Given the description of an element on the screen output the (x, y) to click on. 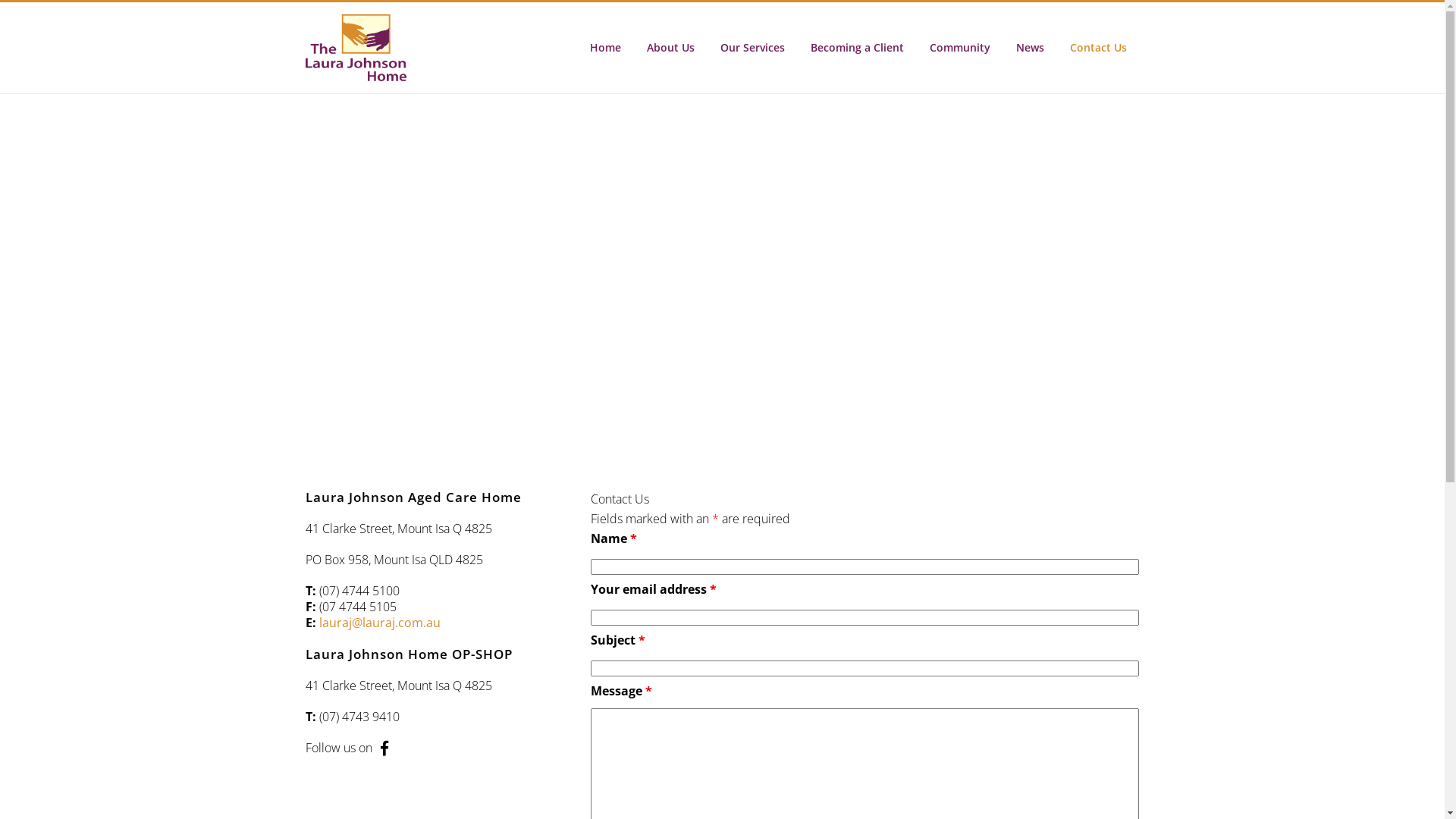
Staff Portal Element type: text (831, 596)
Becoming a Client Element type: text (831, 566)
Contact Us Online Element type: text (992, 606)
Becoming a Client Element type: text (856, 47)
Home Element type: text (604, 47)
About Us Element type: text (670, 47)
KREATOLOGY Element type: text (866, 786)
Community Element type: text (959, 47)
Our Services Element type: text (751, 47)
About Us Element type: text (831, 507)
lauraj@lauraj.com.au Element type: text (378, 622)
Our Services Element type: text (831, 537)
News Element type: text (1029, 47)
Contact Us Element type: text (1098, 47)
